Given the description of an element on the screen output the (x, y) to click on. 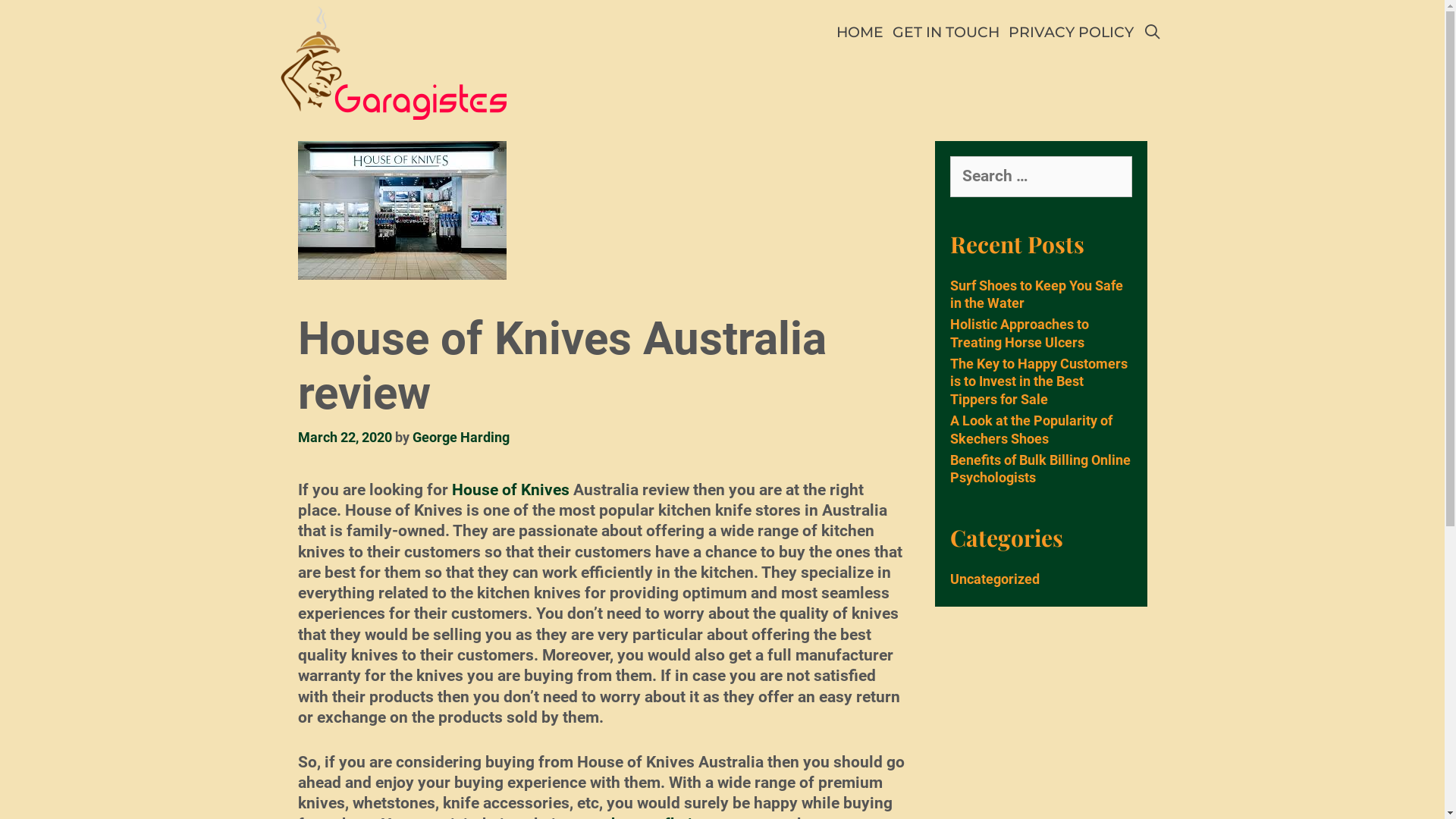
Garagistes Element type: hover (392, 62)
A Look at the Popularity of Skechers Shoes Element type: text (1030, 428)
SEARCH Element type: text (1151, 32)
March 22, 2020 Element type: text (344, 437)
PRIVACY POLICY Element type: text (1071, 32)
HOME Element type: text (859, 32)
Holistic Approaches to Treating Horse Ulcers Element type: text (1018, 332)
Benefits of Bulk Billing Online Psychologists Element type: text (1039, 468)
House of Knives Element type: text (510, 489)
Skip to content Element type: text (0, 0)
Search Element type: text (166, 27)
George Harding Element type: text (460, 437)
Search for: Element type: hover (1040, 176)
Surf Shoes to Keep You Safe in the Water Element type: text (1035, 293)
Uncategorized Element type: text (993, 578)
Garagistes Element type: hover (392, 61)
GET IN TOUCH Element type: text (946, 32)
Search Element type: text (40, 18)
